Given the description of an element on the screen output the (x, y) to click on. 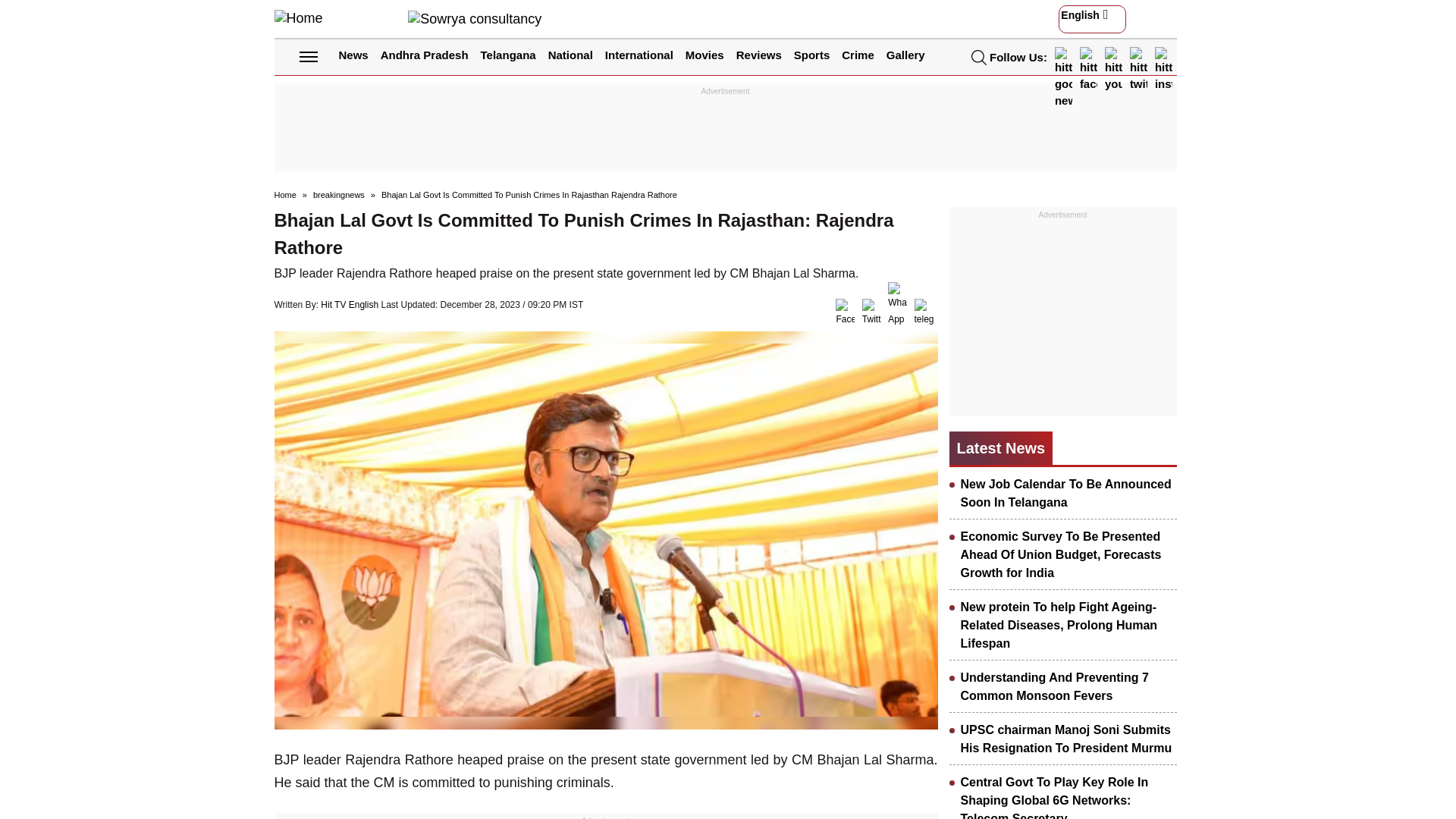
Movies (704, 54)
Gallery (905, 54)
International (638, 54)
Reviews (758, 54)
Sowrya consultancy (474, 18)
News (352, 54)
National (570, 54)
Sowrya consultancy (474, 18)
Sports (811, 54)
Home (299, 17)
Movies (704, 54)
Crime (858, 54)
Home (299, 17)
Telangana (507, 54)
Andhra Pradesh (424, 54)
